Given the description of an element on the screen output the (x, y) to click on. 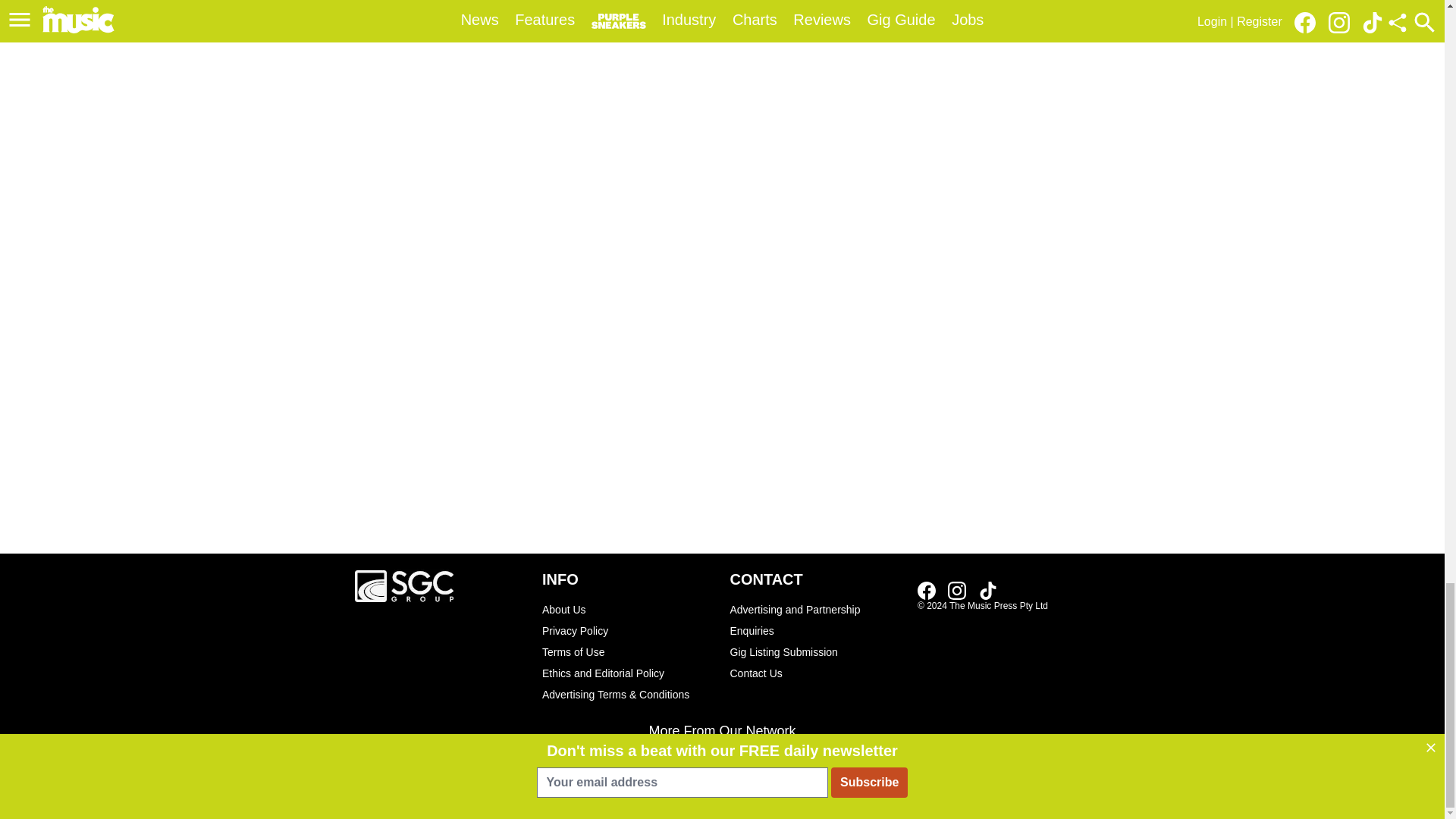
Link to our Facebook (926, 590)
Privacy Policy (627, 630)
Link to our Instagram (956, 590)
Terms of Use (600, 12)
About Us (627, 651)
Link to our TikTok (627, 608)
Is Raygun BRAT? (987, 590)
